Given the description of an element on the screen output the (x, y) to click on. 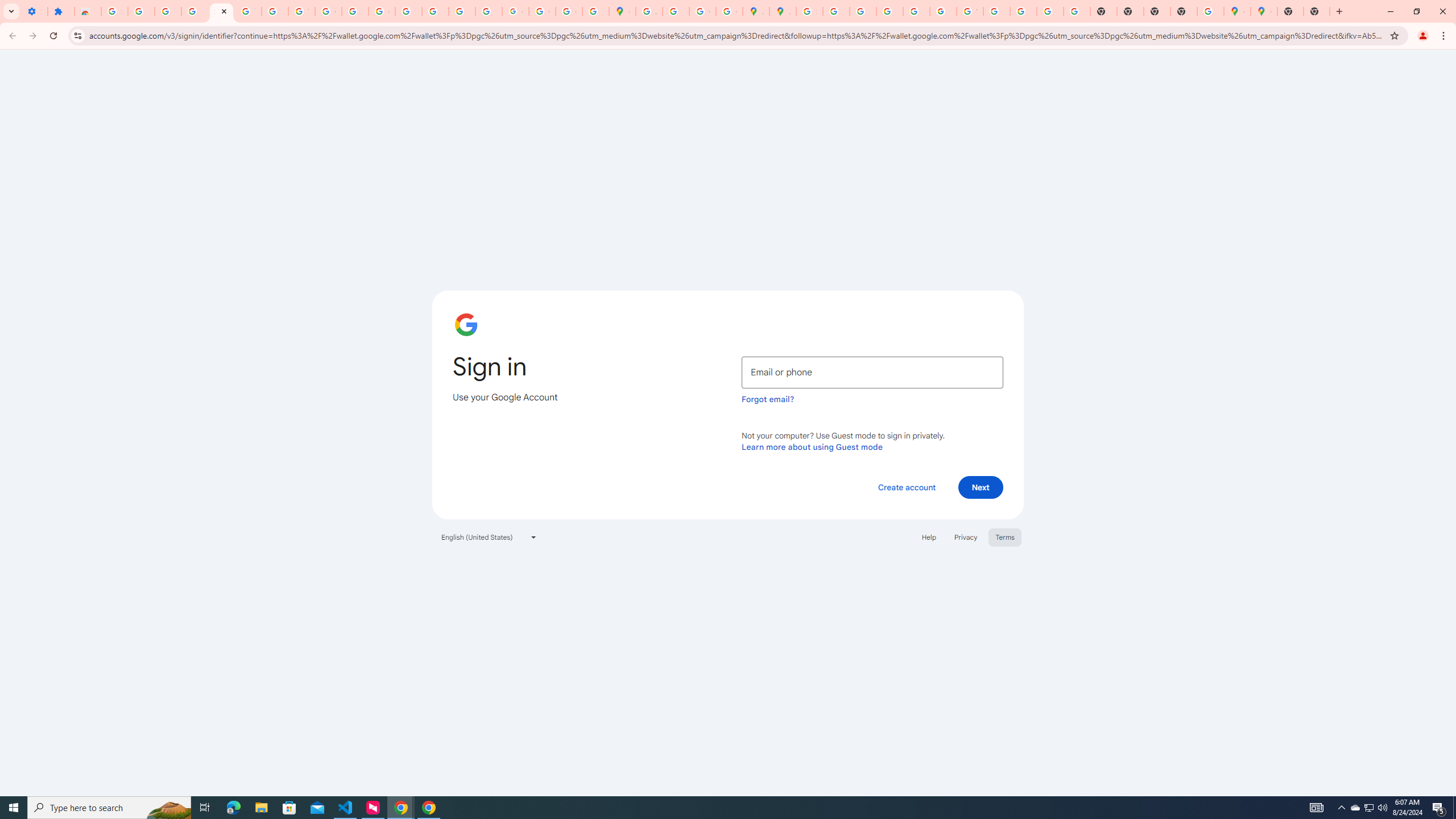
Create your Google Account (702, 11)
Forgot email? (767, 398)
Settings - On startup (34, 11)
Email or phone (872, 372)
New Tab (1183, 11)
